Given the description of an element on the screen output the (x, y) to click on. 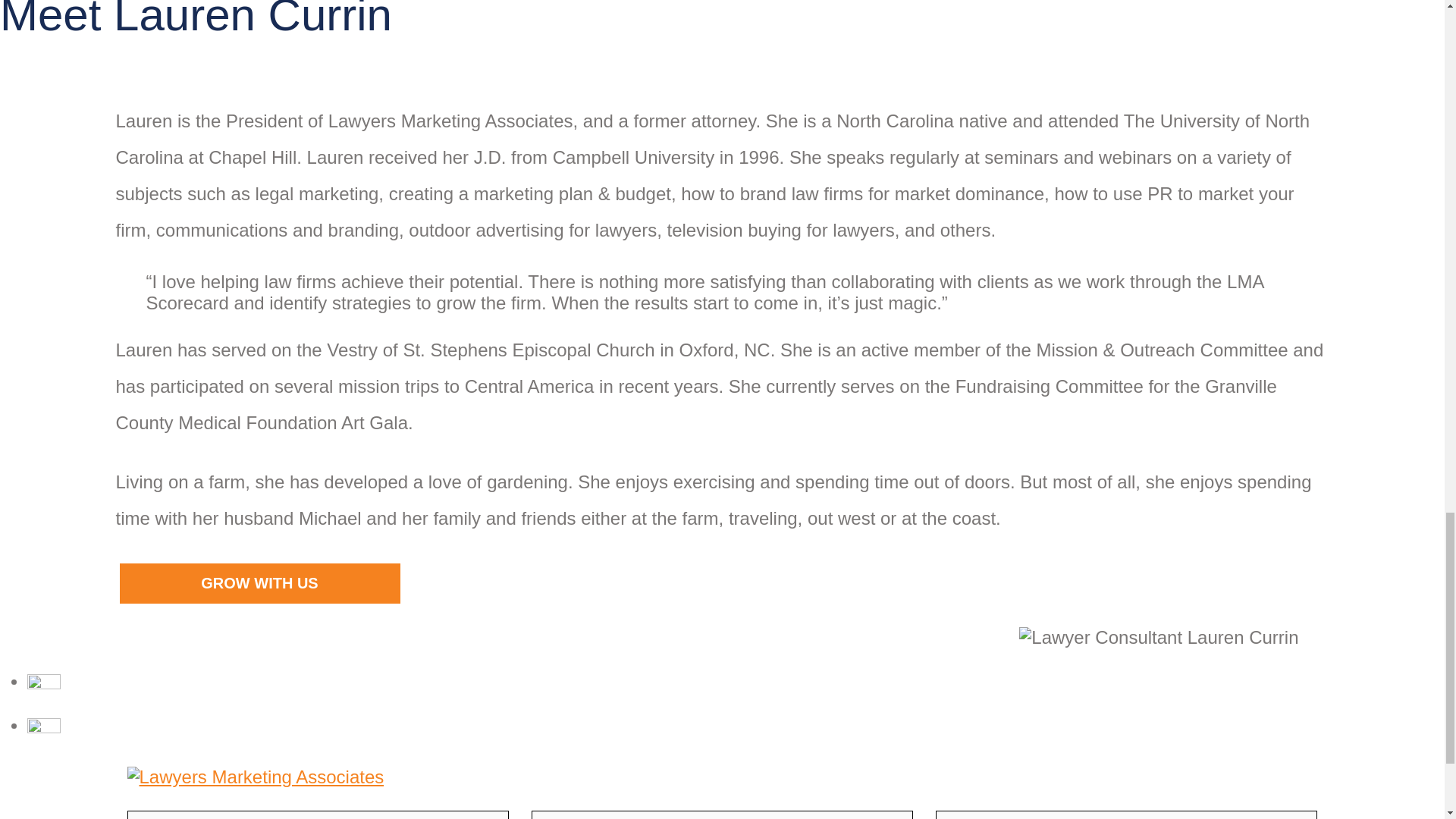
GROW WITH US (259, 583)
